Given the description of an element on the screen output the (x, y) to click on. 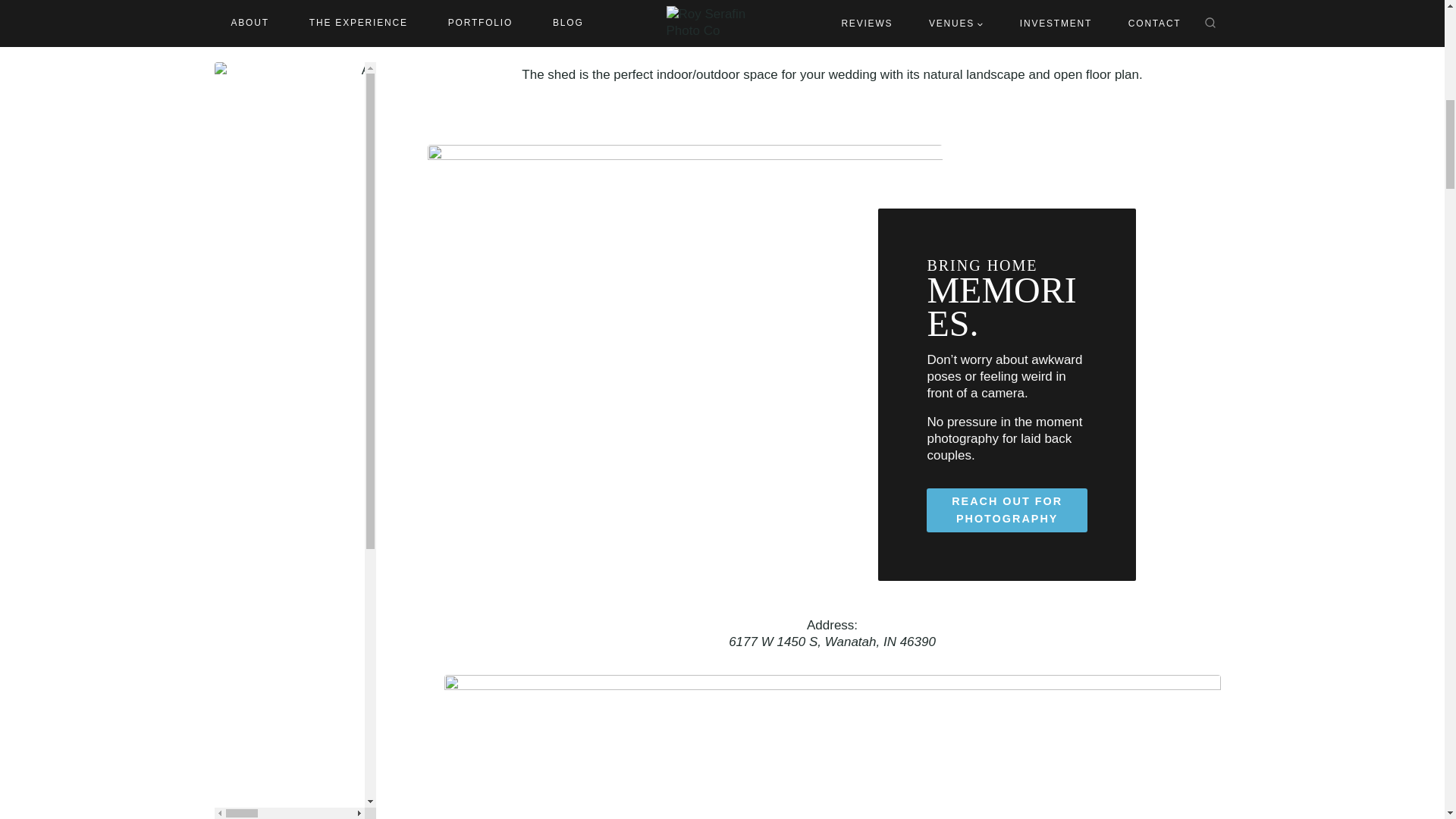
REACH OUT FOR PHOTOGRAPHY (1006, 510)
